Given the description of an element on the screen output the (x, y) to click on. 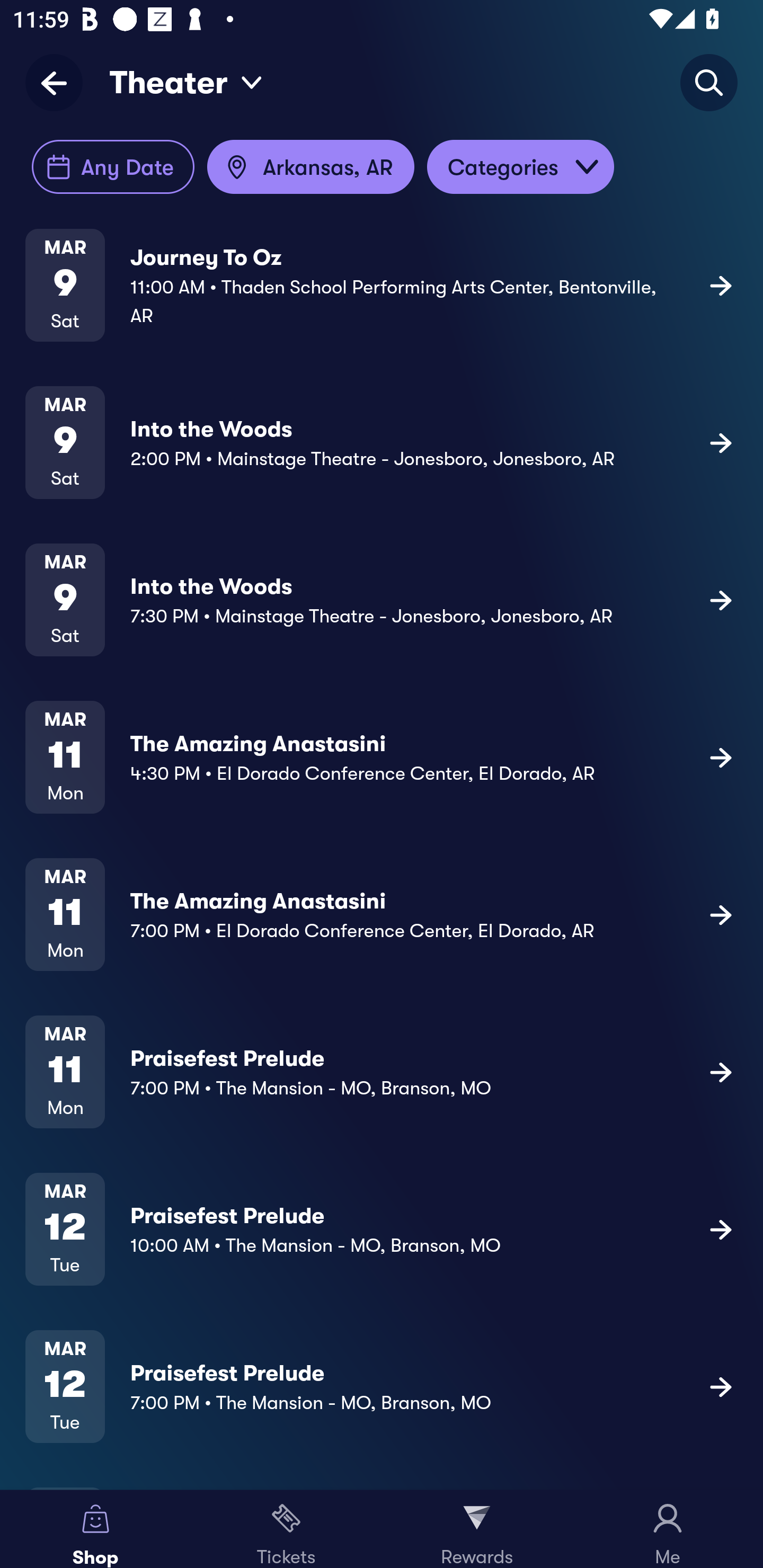
Back (60, 82)
Theater (185, 82)
Any Date (113, 166)
Arkansas, AR (310, 166)
Categories (520, 166)
Open (586, 166)
Shop (95, 1529)
Tickets (285, 1529)
Rewards (476, 1529)
Me (667, 1529)
